Given the description of an element on the screen output the (x, y) to click on. 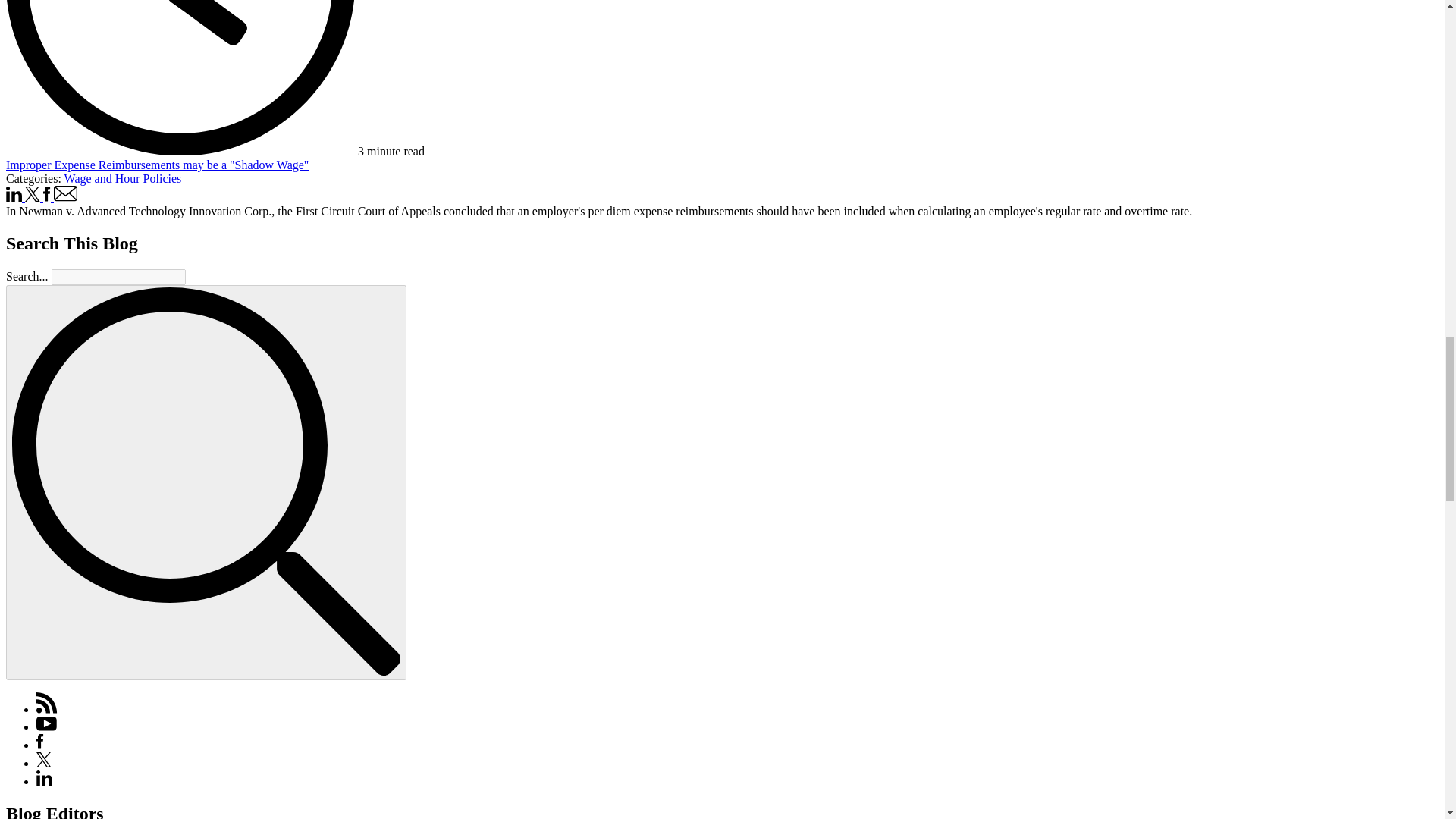
Twitter (33, 196)
Twitter (32, 193)
Youtube (46, 726)
Wage and Hour Policies (123, 178)
Email (65, 193)
RSS (47, 708)
Youtube (46, 726)
Linkedin (44, 780)
Linkedin (14, 196)
Twitter (43, 762)
Twitter (43, 762)
Improper Expense Reimbursements may be a "Shadow Wage" (156, 164)
Clock (180, 77)
